Given the description of an element on the screen output the (x, y) to click on. 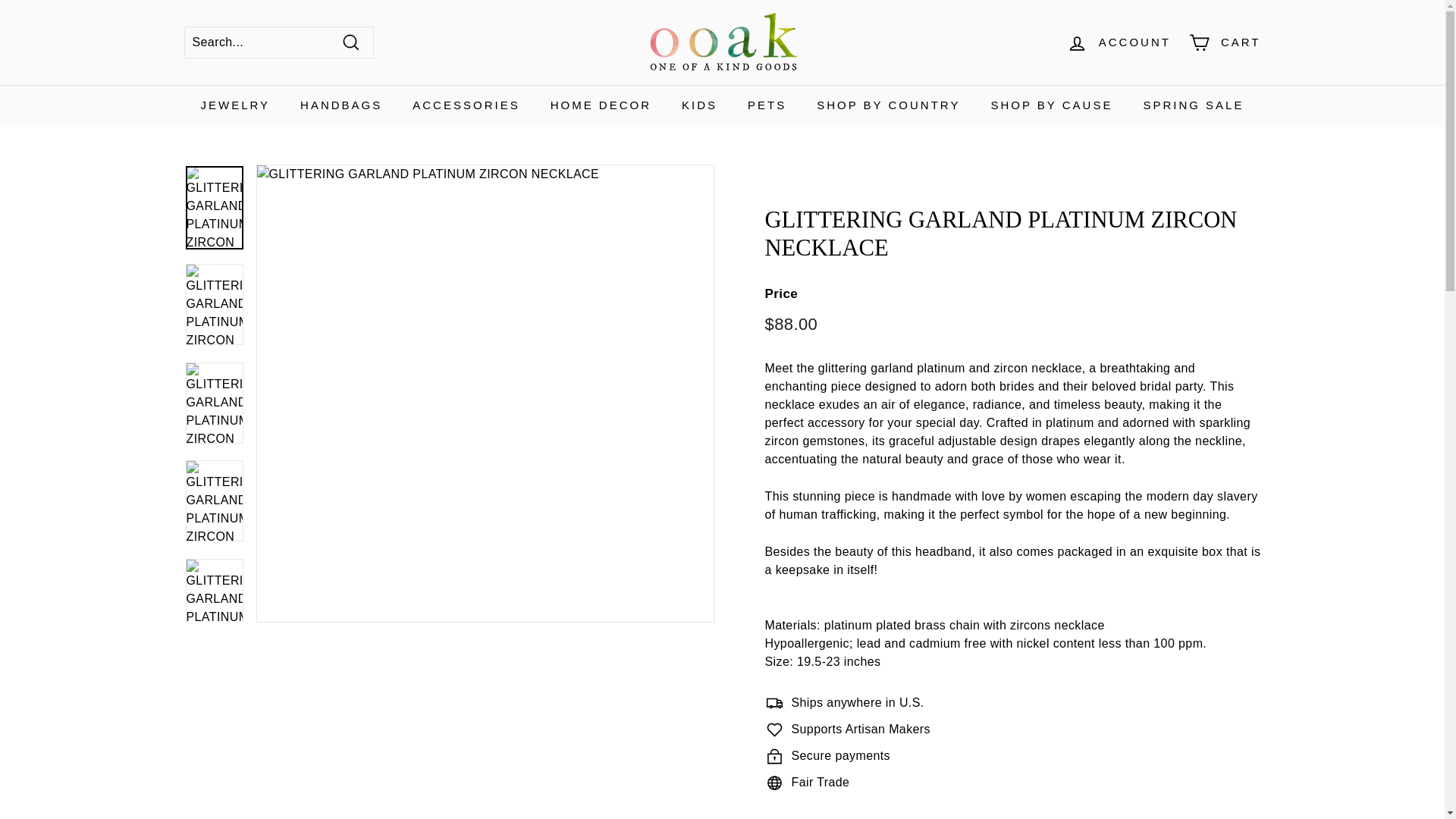
HANDBAGS (341, 105)
JEWELRY (235, 105)
ACCESSORIES (465, 105)
ACCOUNT (1118, 41)
